Given the description of an element on the screen output the (x, y) to click on. 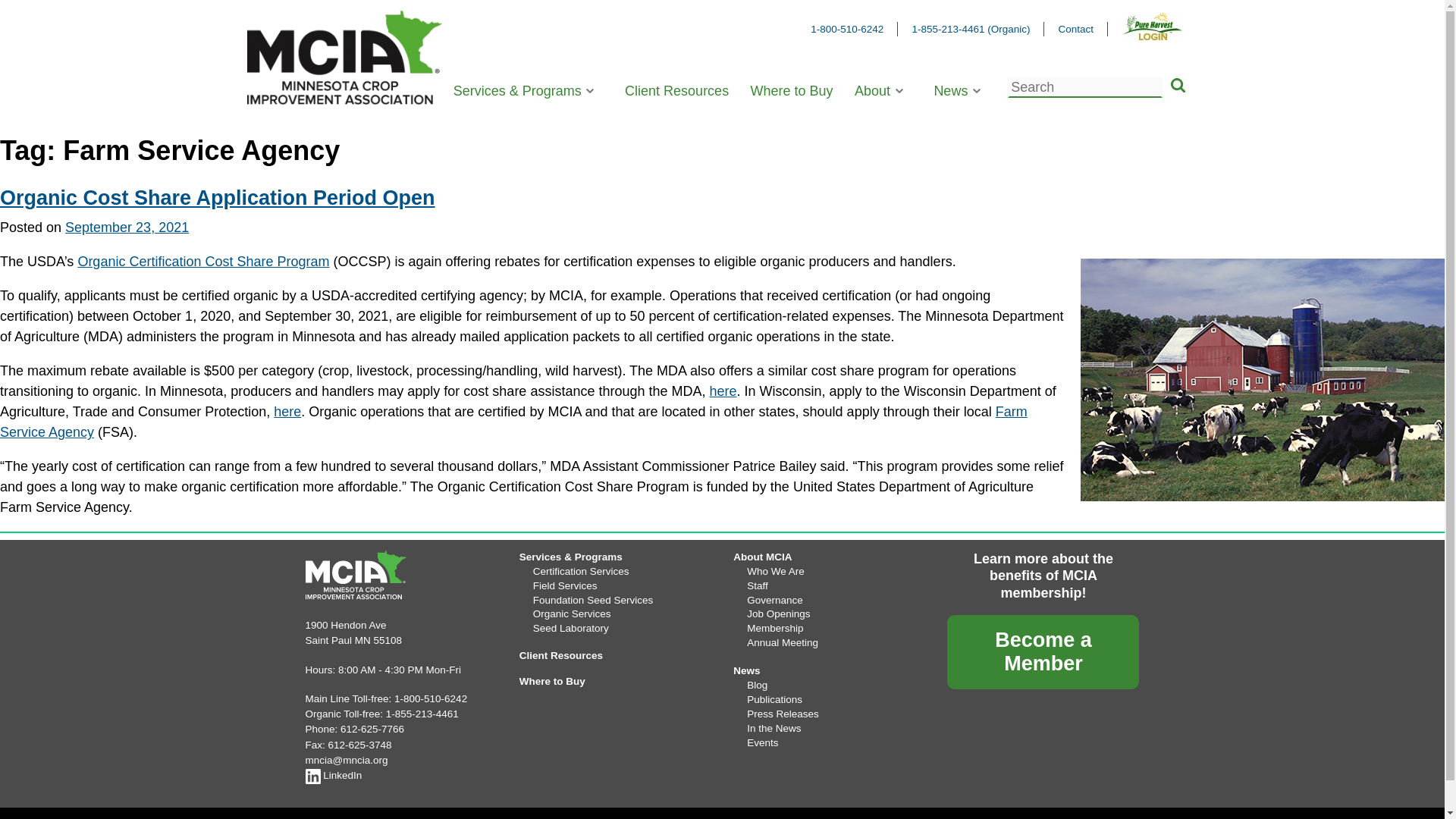
Search (1177, 86)
1-800-510-6242 (847, 29)
Contact (1075, 29)
Client Resources (676, 90)
Where to Buy (790, 90)
